Given the description of an element on the screen output the (x, y) to click on. 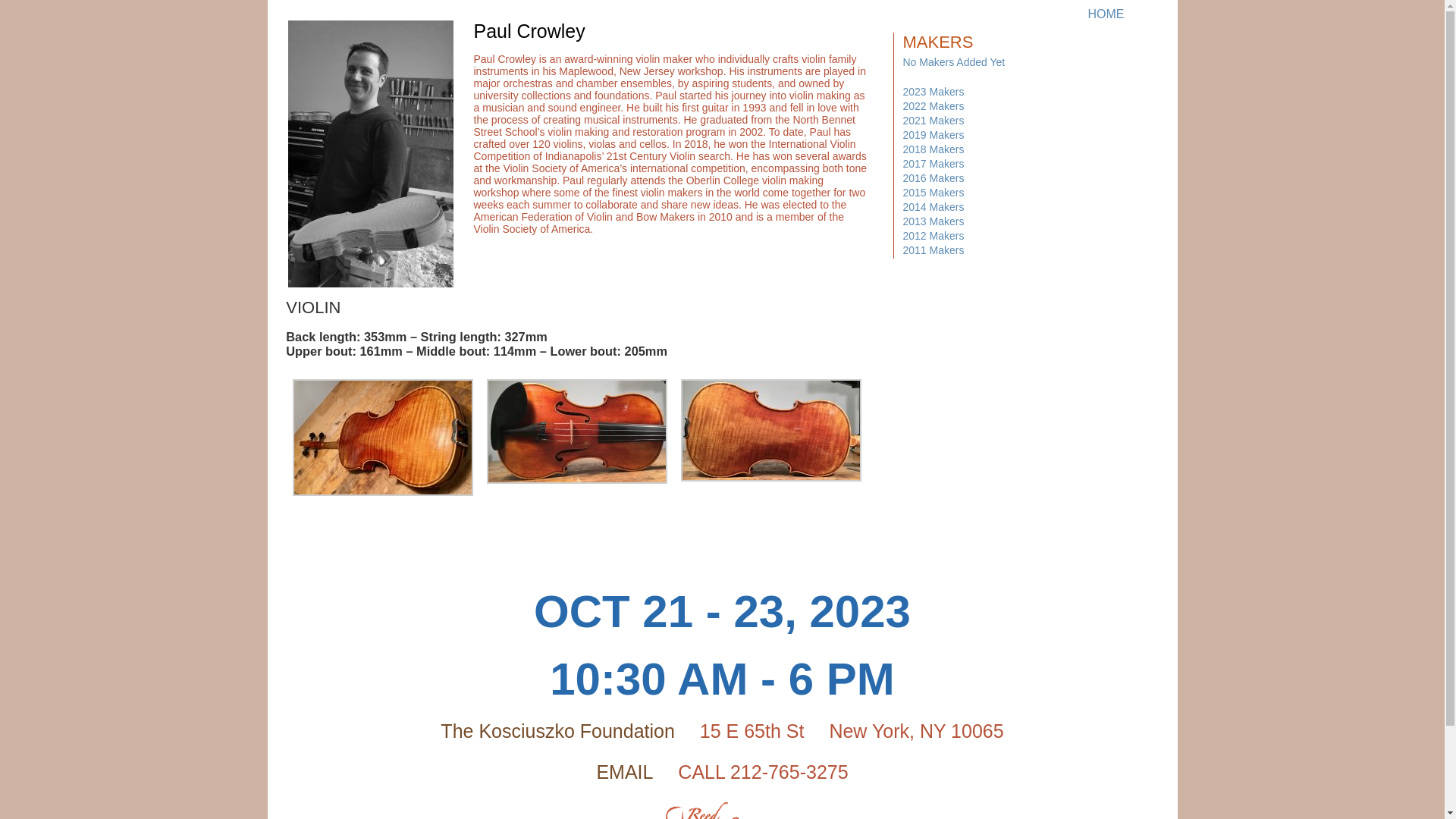
2011 Makers (932, 250)
2019 Makers (932, 134)
Reed Yeboah Fine Violins LLC (700, 810)
2023 Makers (932, 91)
2021 Makers (932, 120)
The Kosciuszko Foundation (558, 731)
2012 Makers (932, 235)
2022 Makers (932, 105)
2015 Makers (932, 192)
HOME (1105, 14)
2017 Makers (932, 163)
2016 Makers (932, 177)
2018 Makers (932, 149)
EMAIL (623, 771)
2013 Makers (932, 221)
